Given the description of an element on the screen output the (x, y) to click on. 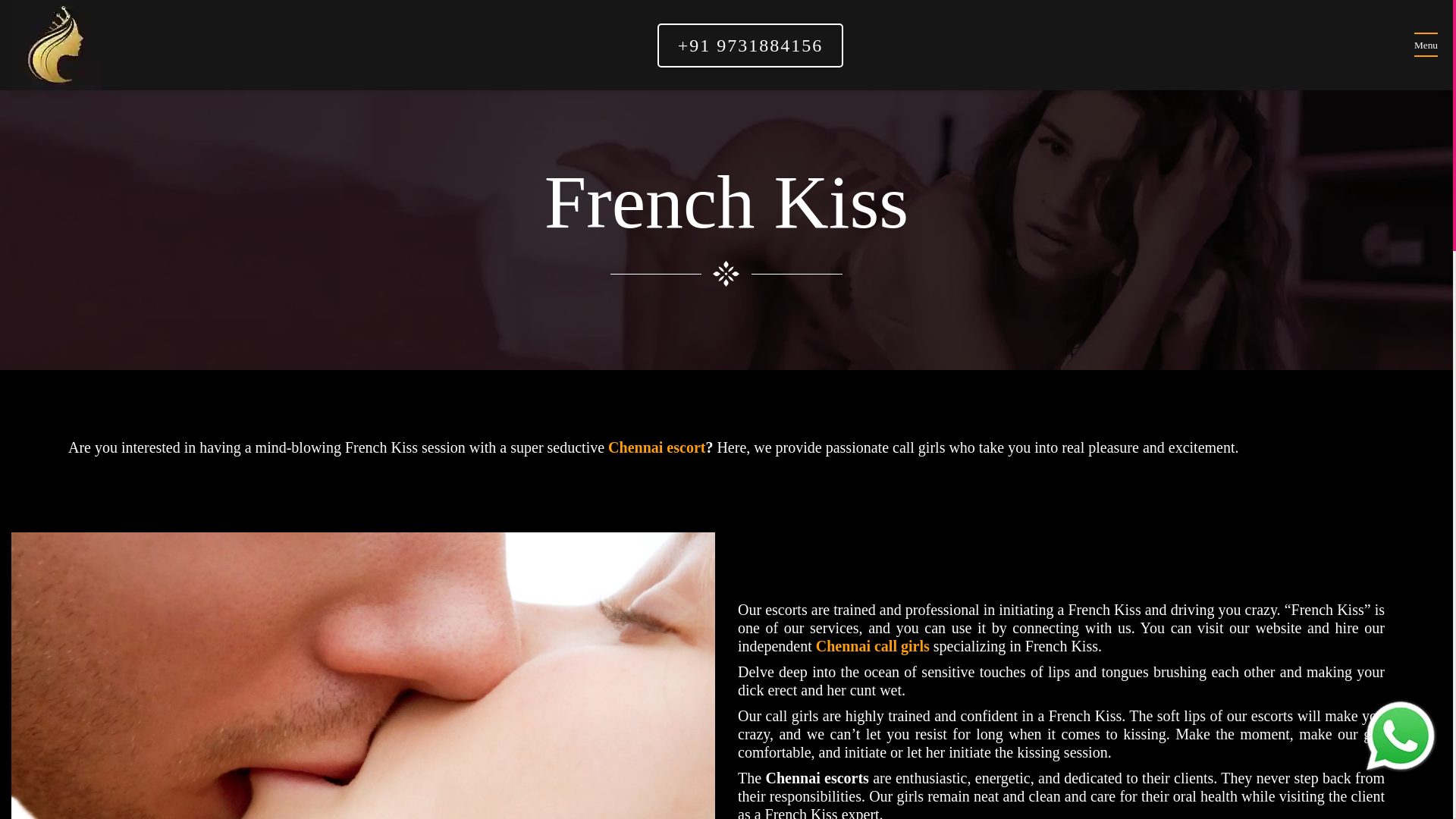
Call Girl in Chennai (874, 646)
Chennai Escort Services (656, 446)
Chennai call girls (874, 646)
Menu (1425, 45)
Chennai escort (656, 446)
